Given the description of an element on the screen output the (x, y) to click on. 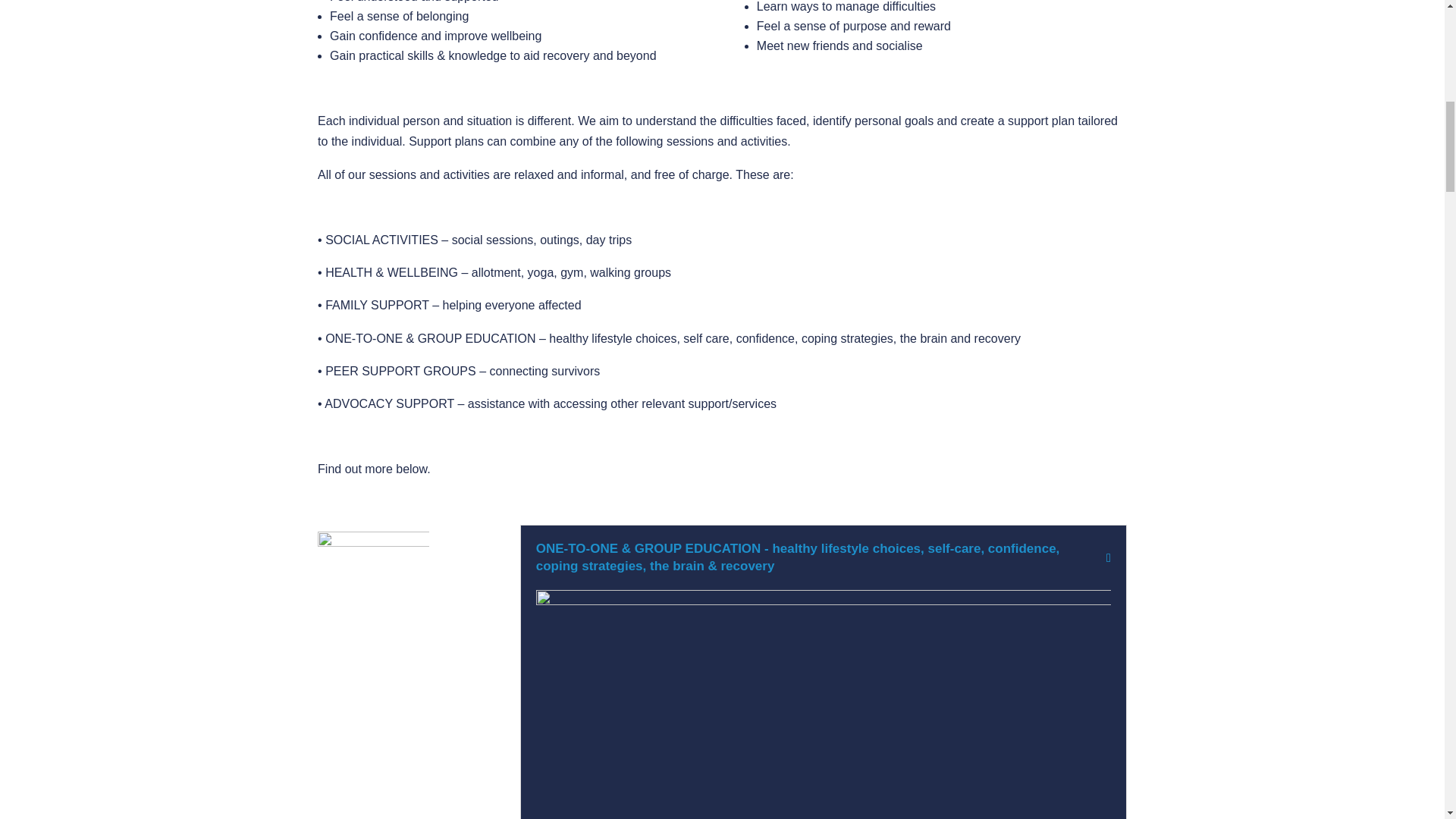
One-to-one-Education-Iconne (373, 586)
